Given the description of an element on the screen output the (x, y) to click on. 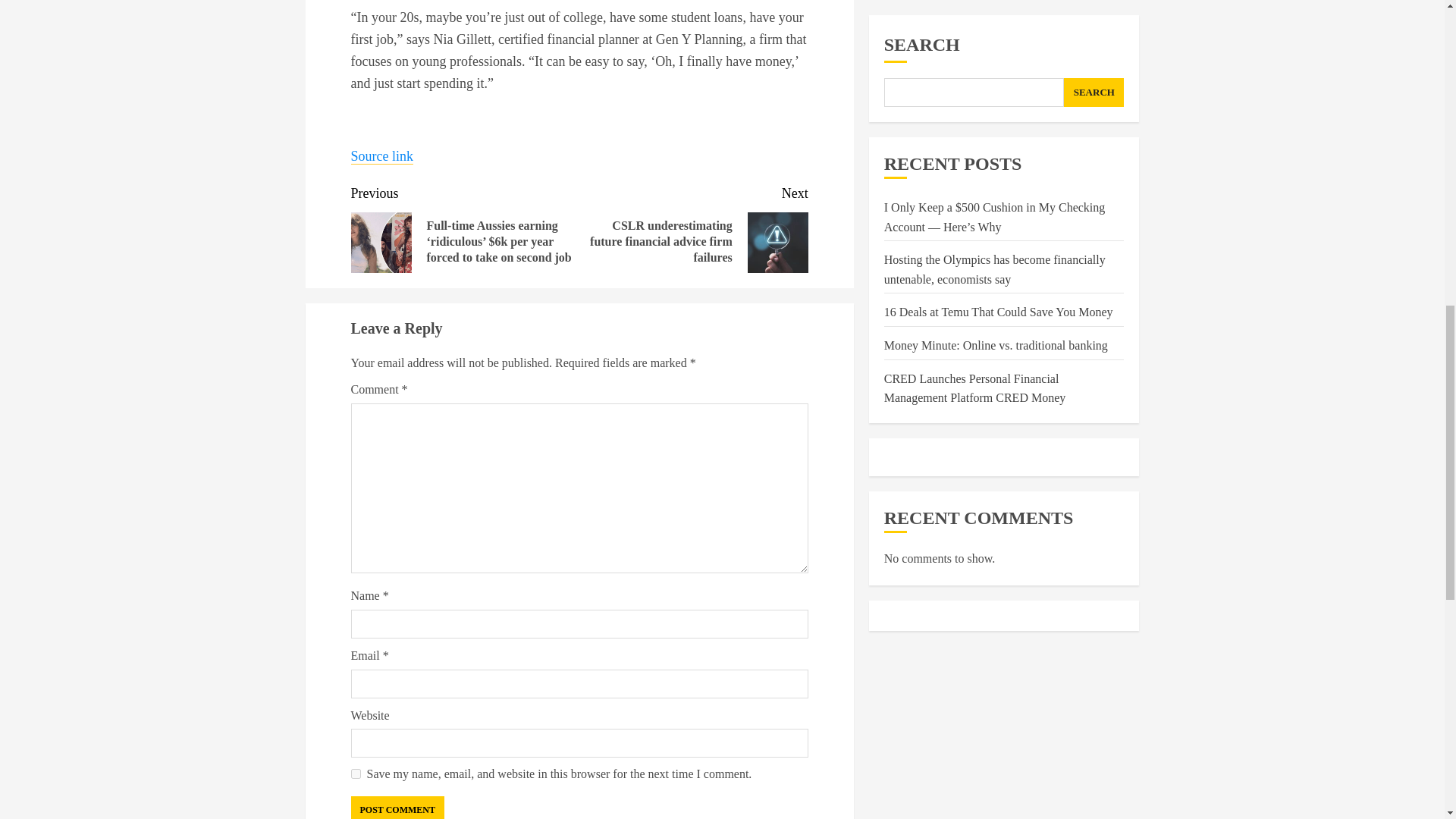
Post Comment (397, 807)
Post Comment (397, 807)
Source link (381, 156)
yes (354, 773)
